Given the description of an element on the screen output the (x, y) to click on. 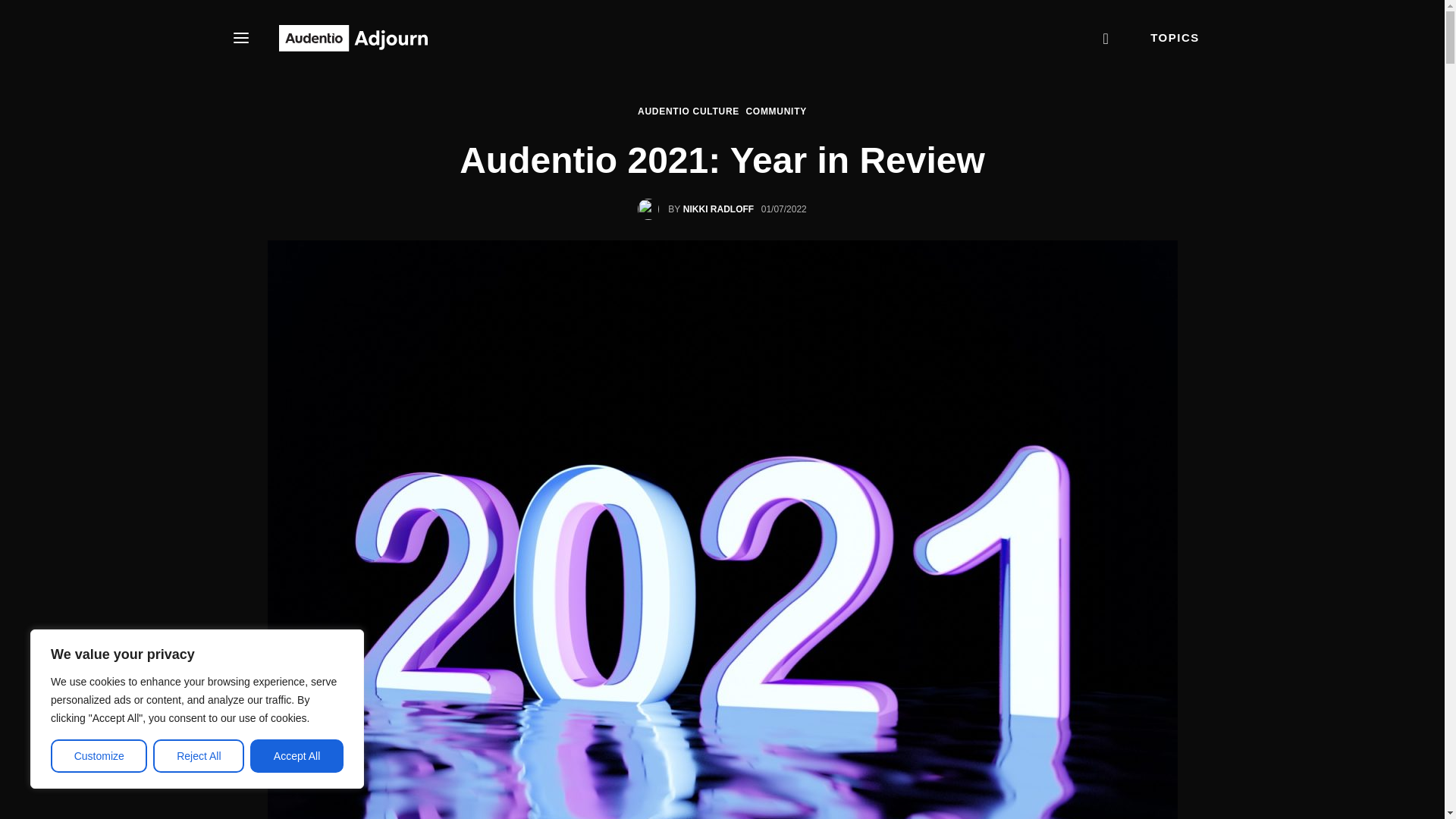
Customize (98, 756)
Reject All (198, 756)
TOPICS (1174, 37)
Accept All (296, 756)
